Given the description of an element on the screen output the (x, y) to click on. 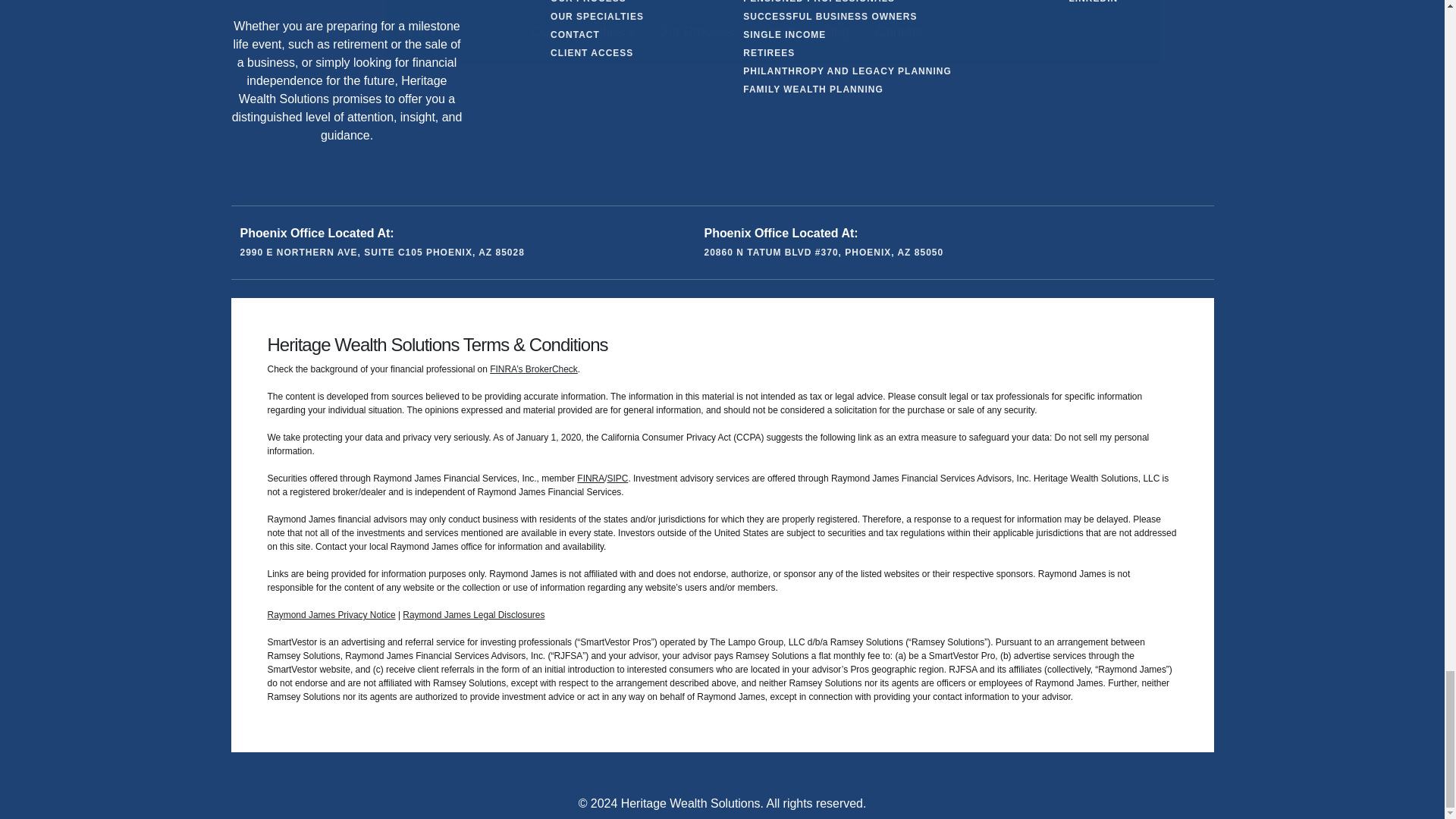
SIPC (617, 478)
OUR SPECIALTIES (596, 17)
FAMILY WEALTH PLANNING (812, 89)
2990 E NORTHERN AVE, SUITE C105 PHOENIX, AZ 85028 (382, 253)
Raymond James Legal Disclosures (473, 614)
SUCCESSFUL BUSINESS OWNERS (829, 17)
Raymond James Privacy Notice (330, 614)
LINKEDIN (1093, 3)
CONTACT (574, 35)
OUR PROCESS (588, 3)
